Given the description of an element on the screen output the (x, y) to click on. 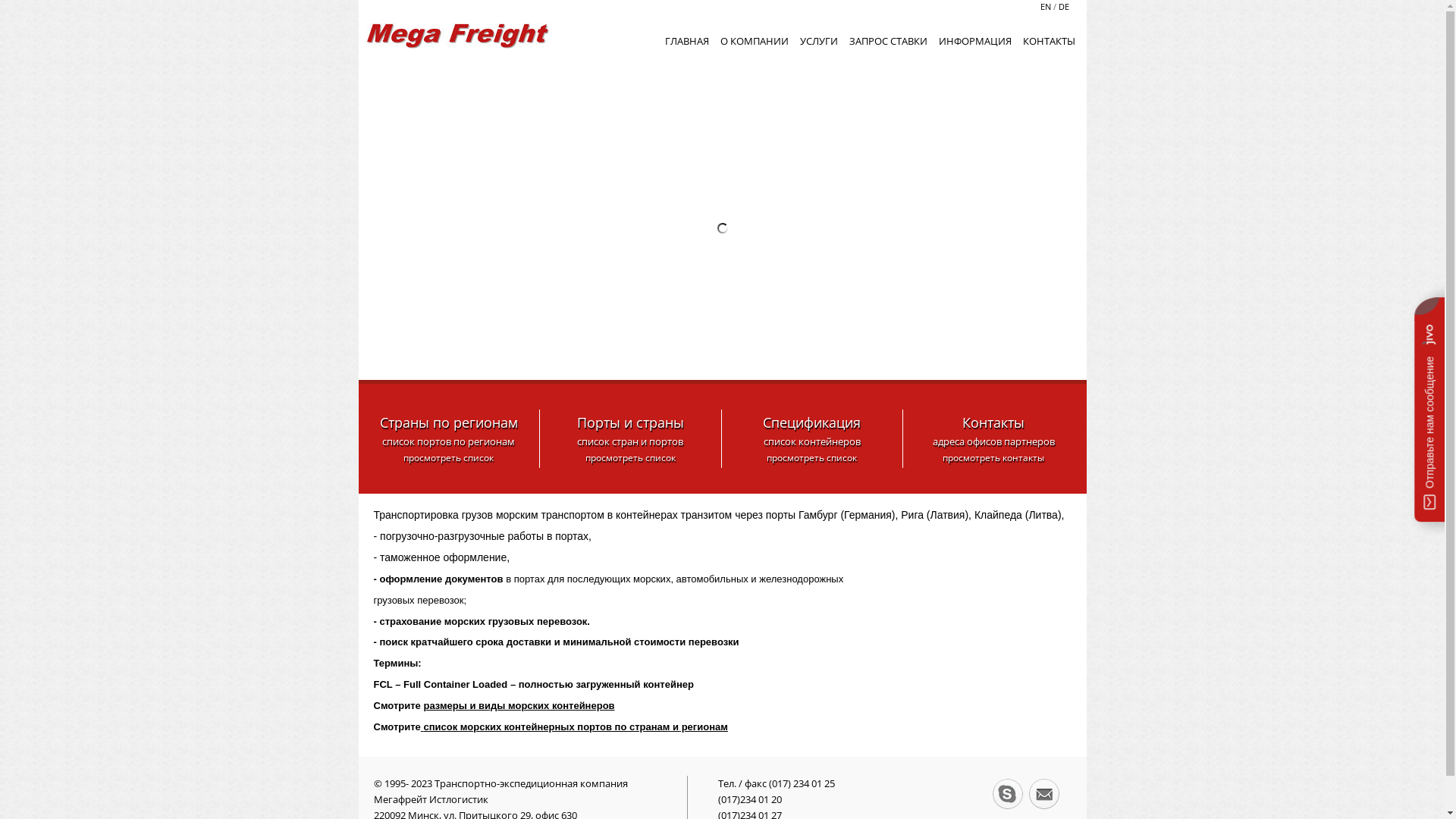
DE Element type: text (1061, 6)
EN Element type: text (1046, 6)
